Given the description of an element on the screen output the (x, y) to click on. 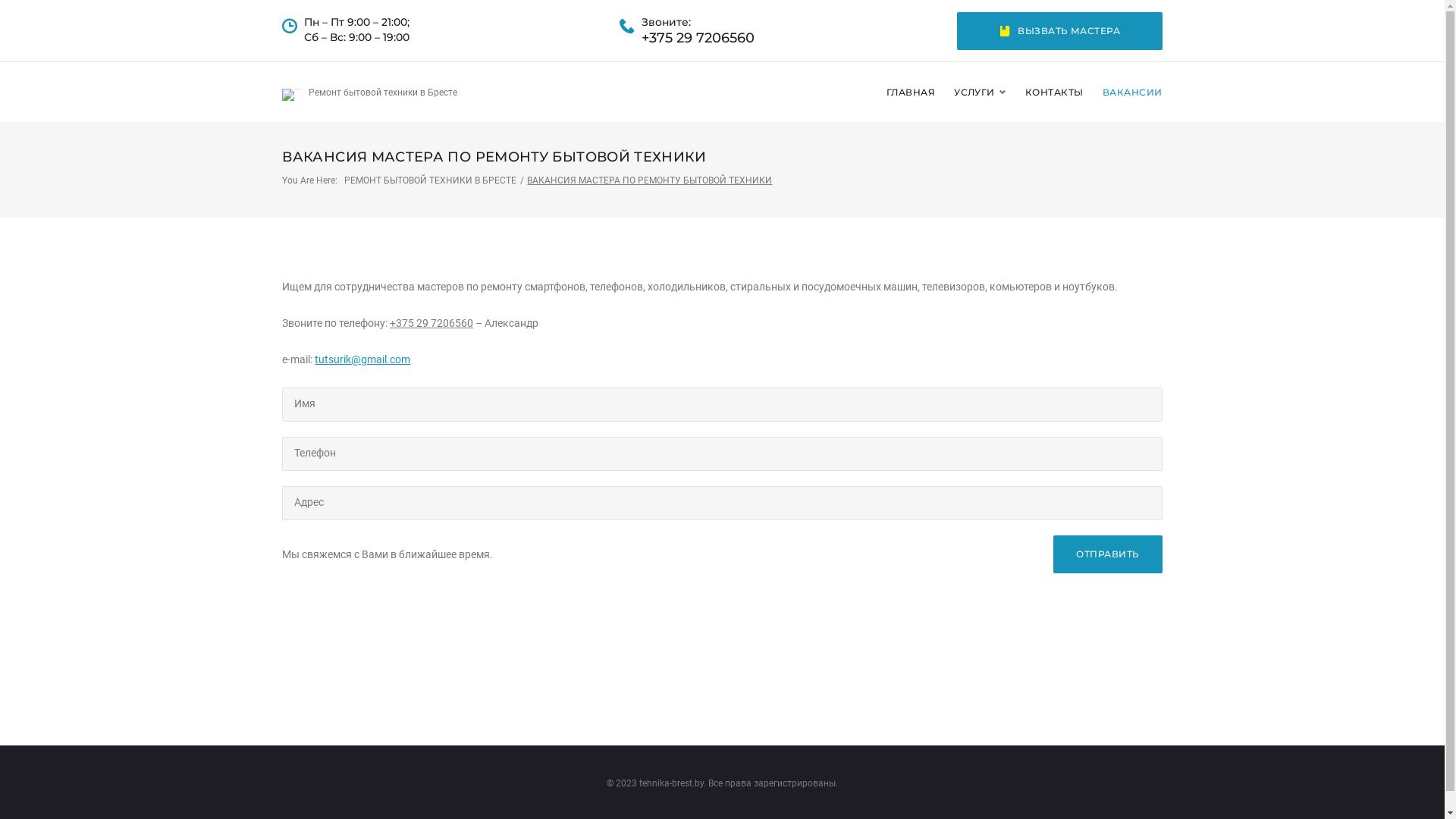
+375 29 7206560 Element type: text (697, 38)
tutsurik@gmail.com Element type: text (362, 359)
Skip to content Element type: text (0, 0)
+375 29 7206560 Element type: text (431, 322)
